Given the description of an element on the screen output the (x, y) to click on. 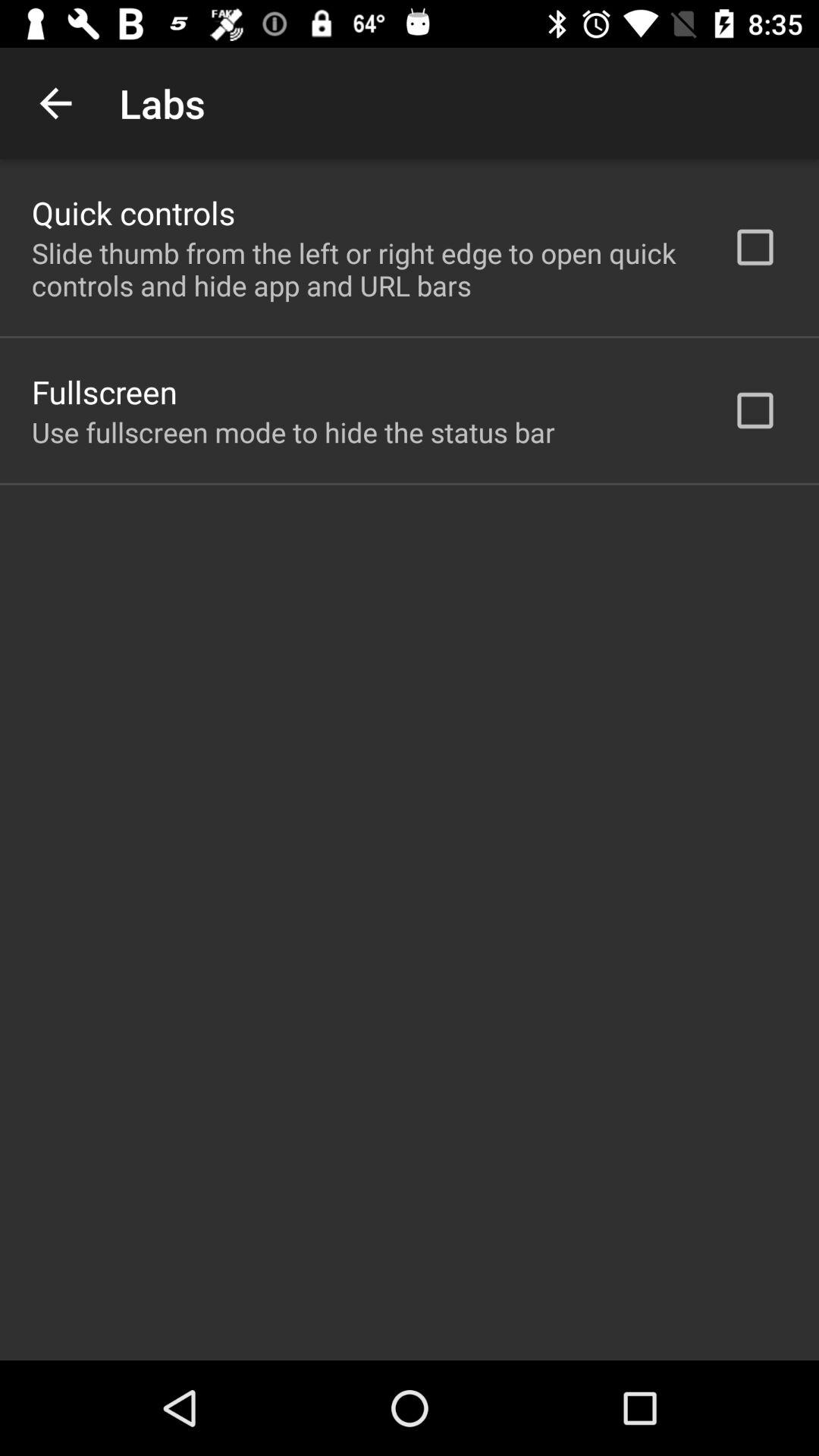
turn on item above the fullscreen item (361, 269)
